Given the description of an element on the screen output the (x, y) to click on. 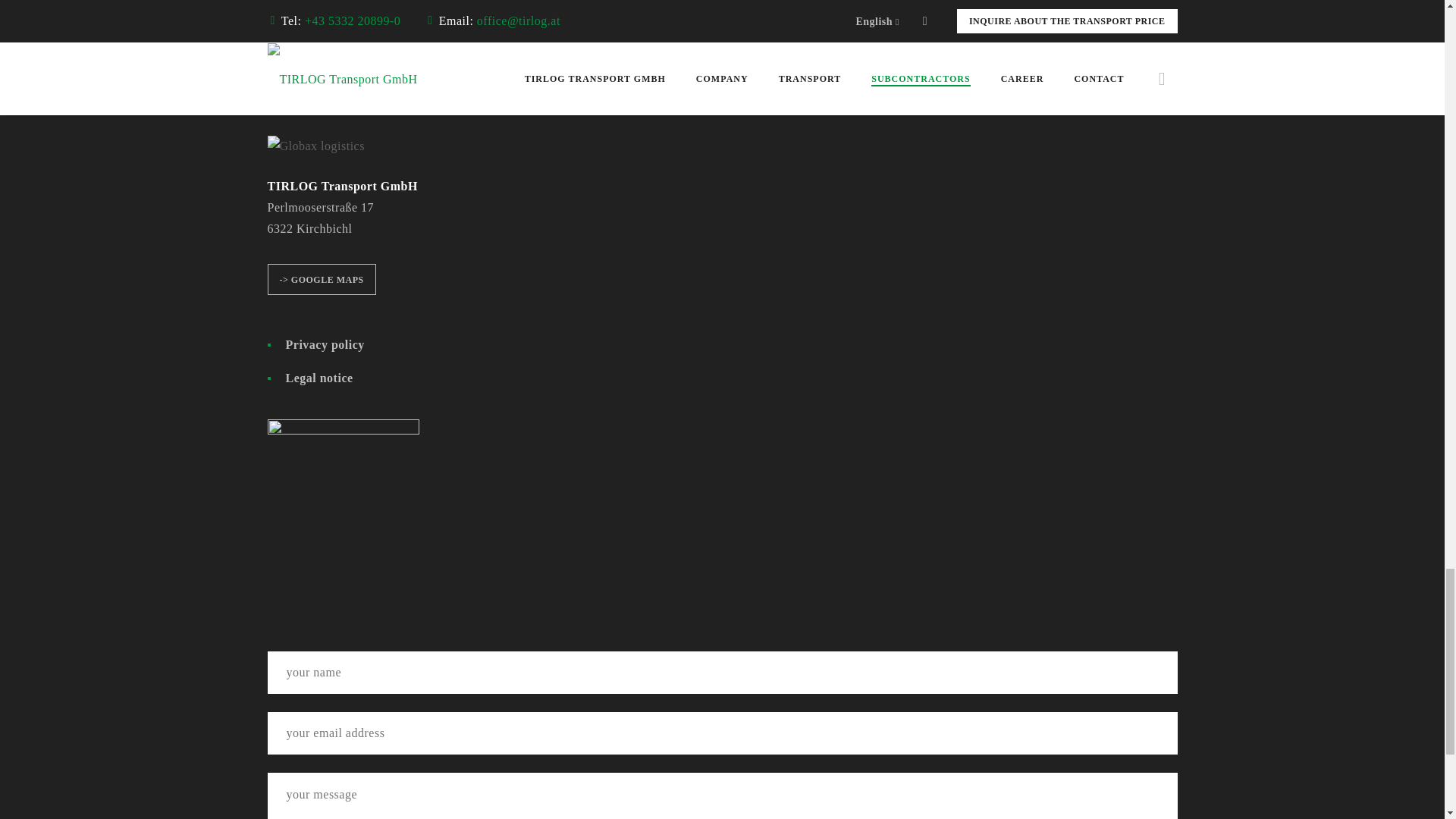
spedition-tirlog-deutsch (342, 494)
